Given the description of an element on the screen output the (x, y) to click on. 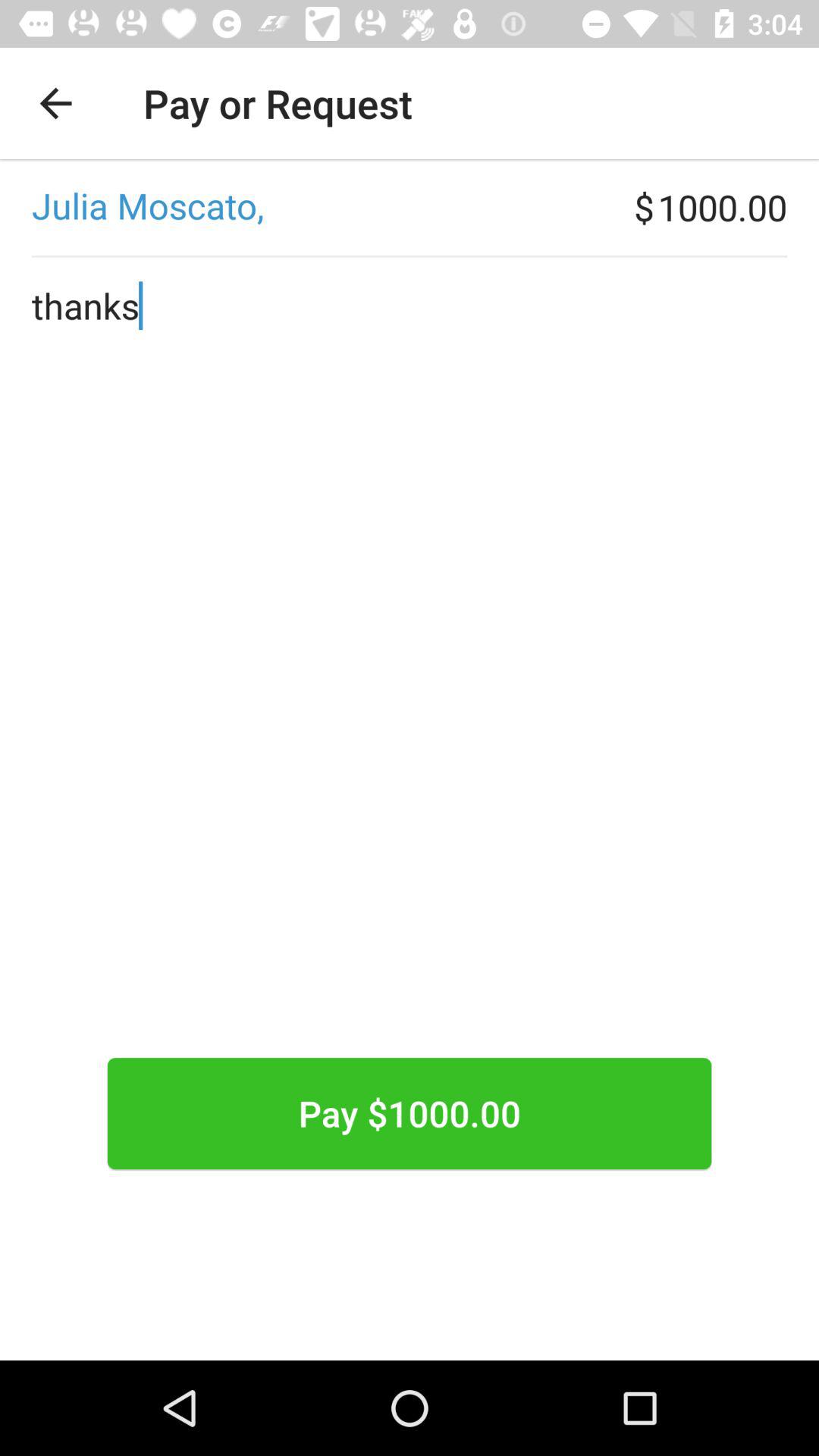
launch the , (317, 207)
